Given the description of an element on the screen output the (x, y) to click on. 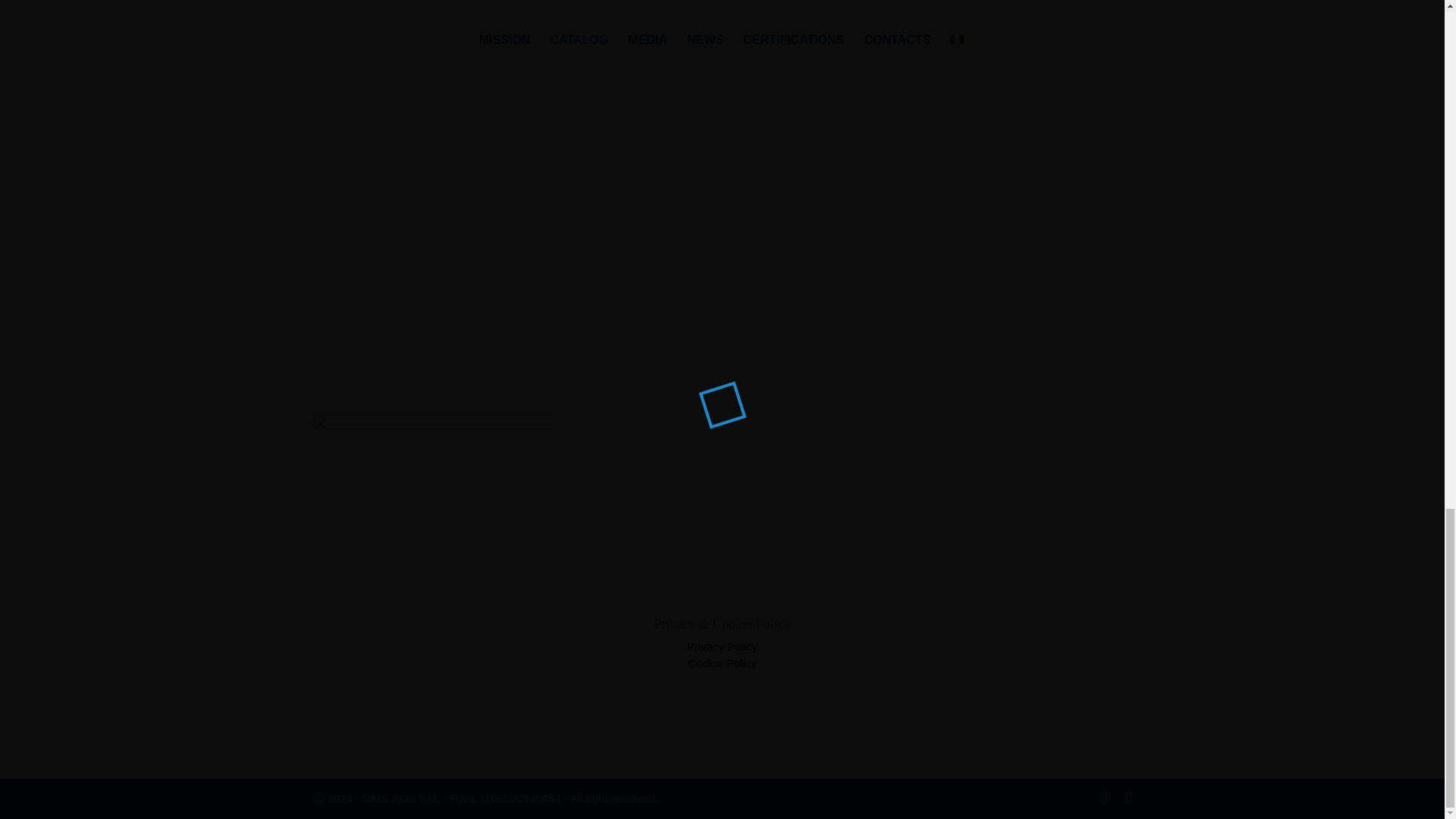
loghi-nuovo-piede-3-centrati (433, 474)
Privacy Policy  (722, 645)
Cookie Policy  (722, 662)
Privacy Policy (722, 645)
Cookie Policy (722, 662)
